Given the description of an element on the screen output the (x, y) to click on. 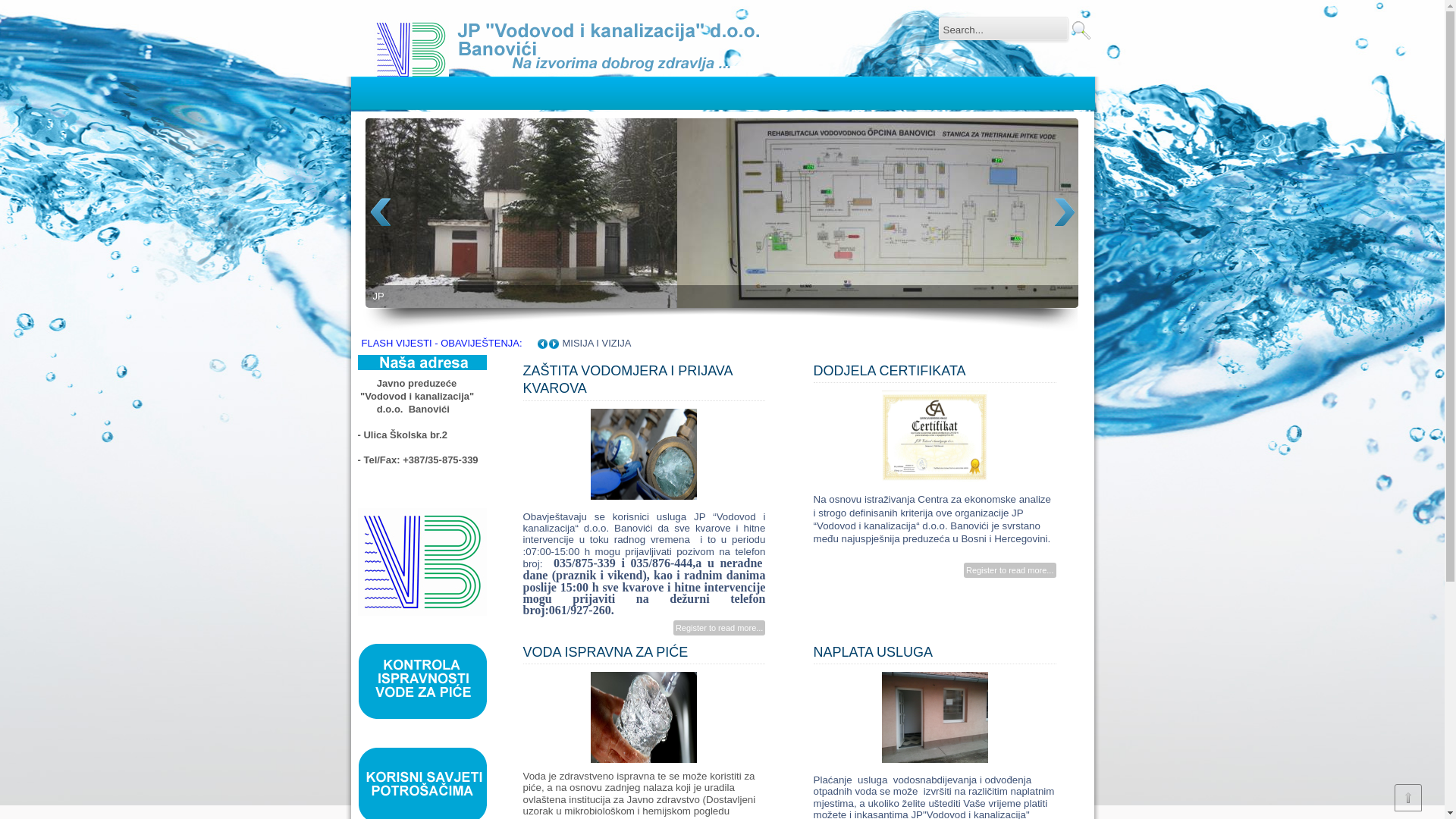
Register to read more... Element type: text (719, 627)
MISIJA I VIZIJA Element type: text (598, 342)
Register to read more... Element type: text (1009, 569)
